Given the description of an element on the screen output the (x, y) to click on. 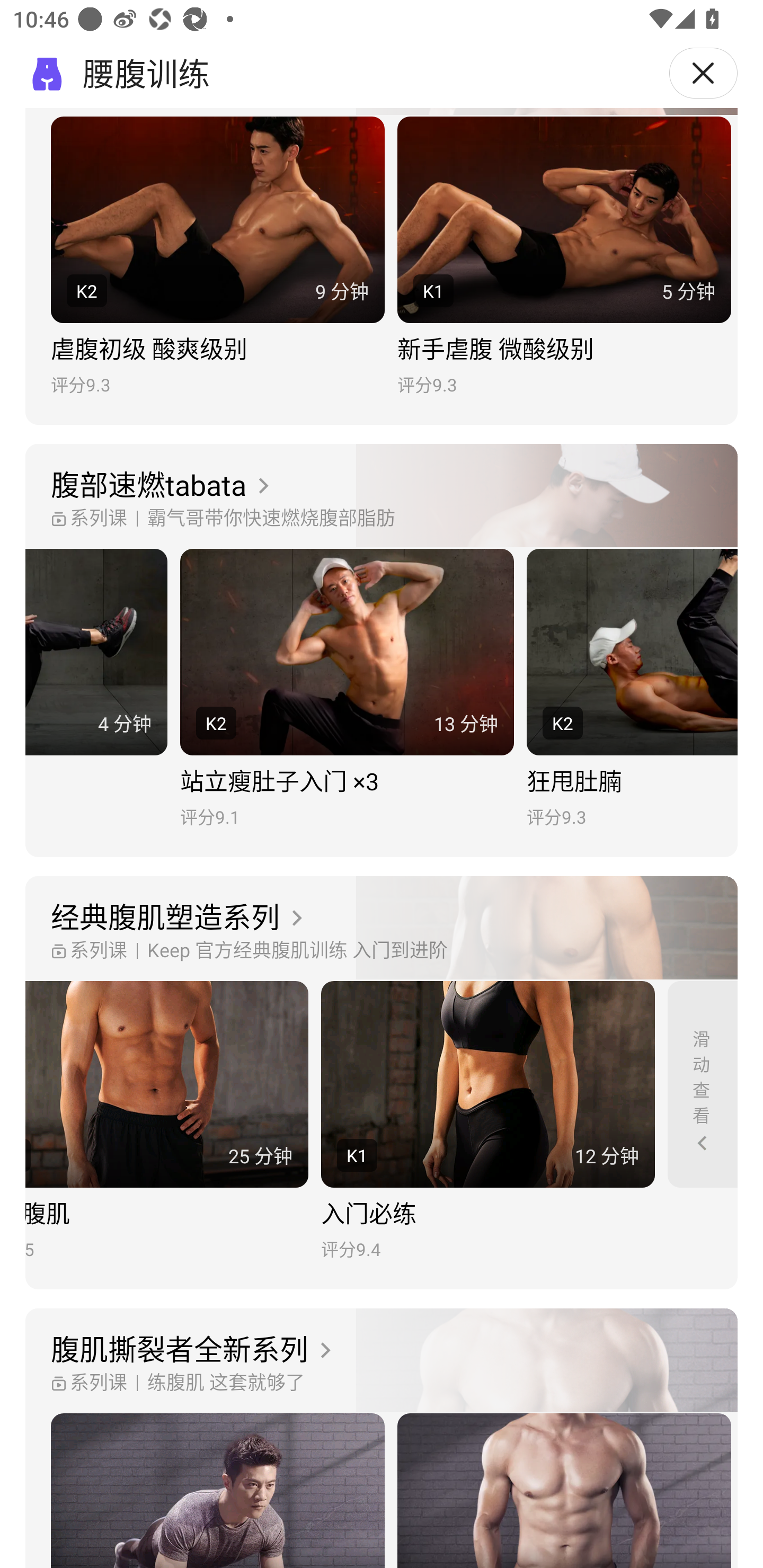
K2 9 分钟 虐腹初级 酸爽级别 评分9.3 (217, 256)
K1 5 分钟 新手虐腹 微酸级别 评分9.3 (563, 256)
腹部速燃tabata 系列课 霸气哥带你快速燃烧腹部脂肪 (381, 495)
K2 13 分钟 站立瘦肚子入门 ×3 评分9.1 (347, 687)
K2 狂甩肚腩 评分9.3 (631, 687)
经典腹肌塑造系列 系列课 Keep 官方经典腹肌训练 入门到进阶 (381, 928)
K4 25 分钟 完美腹肌 评分9.5 (166, 1120)
K1 12 分钟 入门必练 评分9.4 (487, 1120)
滑动查看 (702, 1083)
腹肌撕裂者全新系列 系列课 练腹肌 这套就够了 (381, 1359)
